Given the description of an element on the screen output the (x, y) to click on. 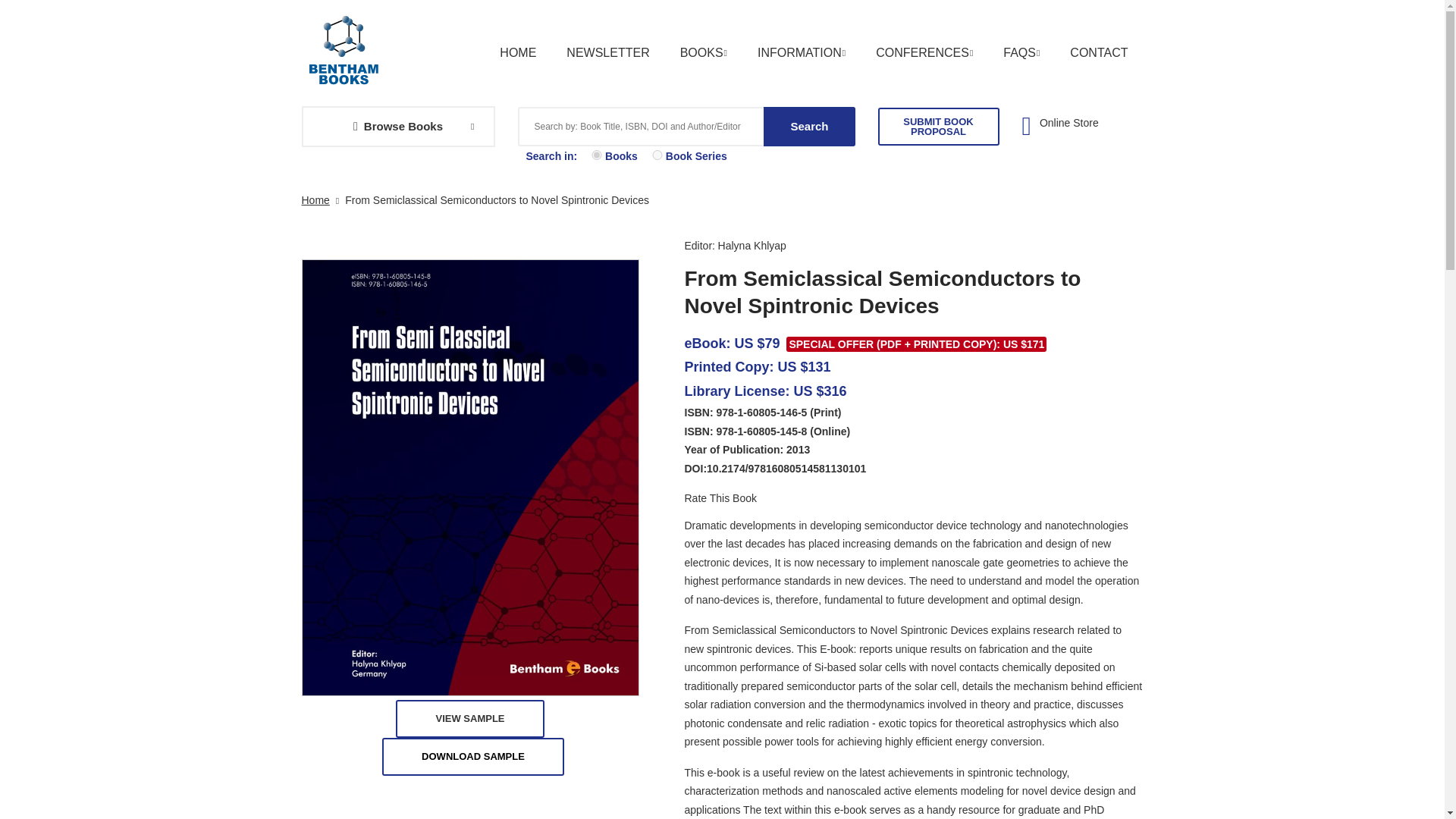
series (657, 154)
NEWSLETTER (607, 52)
CONFERENCES (924, 52)
INFORMATION (801, 52)
book (596, 154)
